Given the description of an element on the screen output the (x, y) to click on. 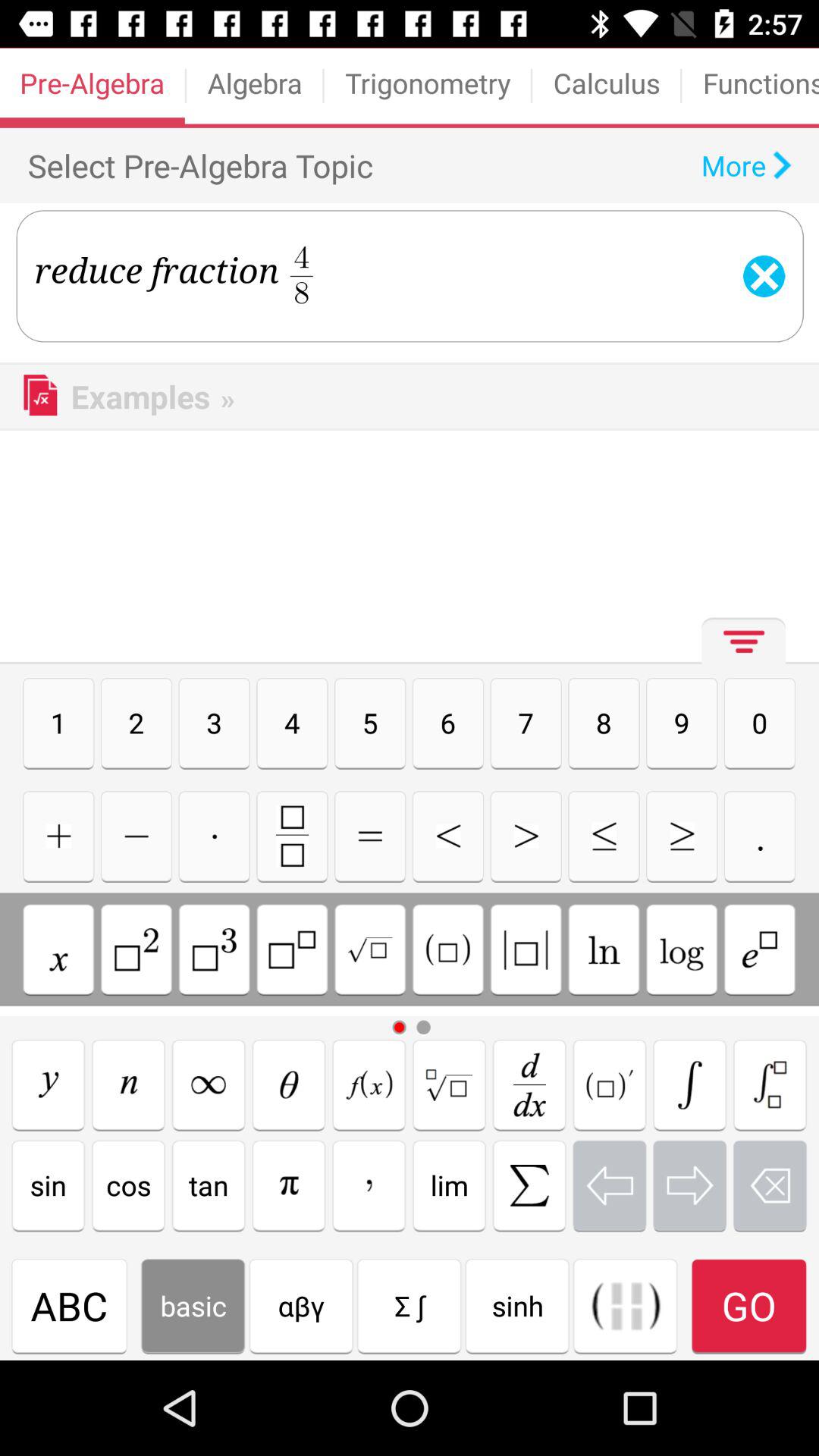
ln (603, 949)
